Given the description of an element on the screen output the (x, y) to click on. 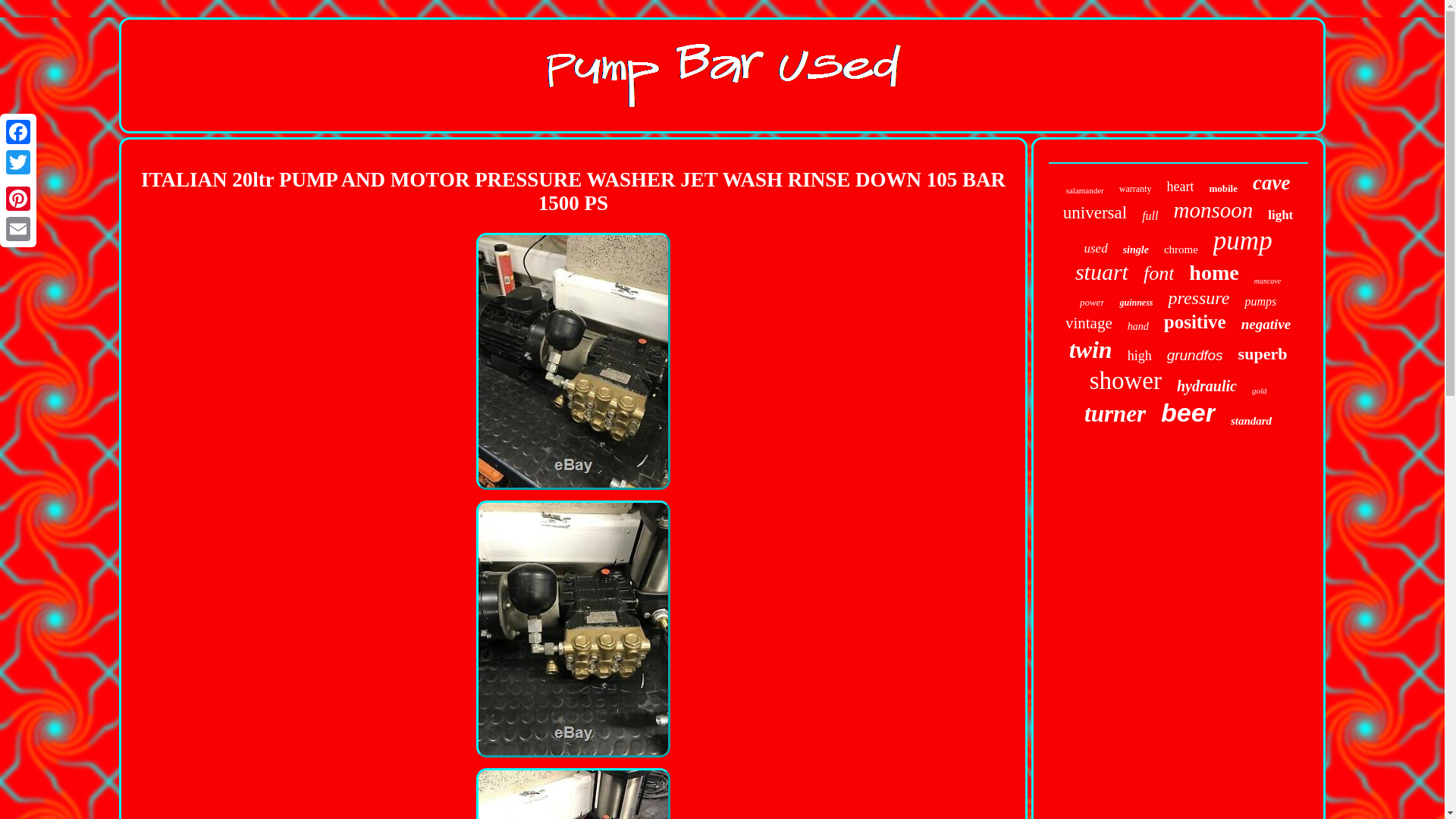
single (1135, 250)
heart (1179, 186)
warranty (1135, 188)
used (1094, 248)
monsoon (1212, 210)
salamander (1084, 189)
cave (1271, 182)
chrome (1180, 249)
hand (1137, 326)
pressure (1197, 298)
